Given the description of an element on the screen output the (x, y) to click on. 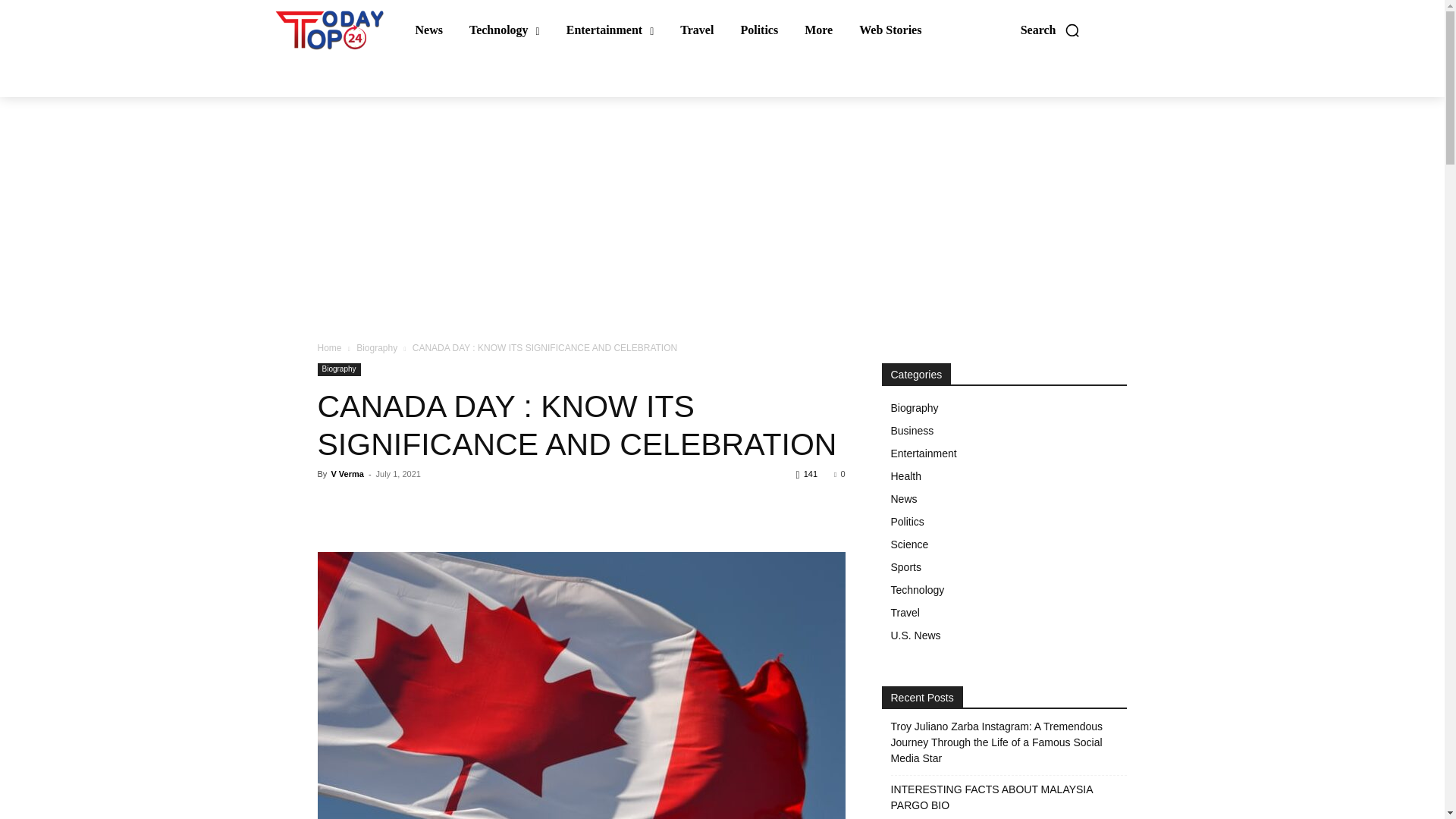
Technology (504, 30)
Search (1050, 30)
Entertainment (610, 30)
